Given the description of an element on the screen output the (x, y) to click on. 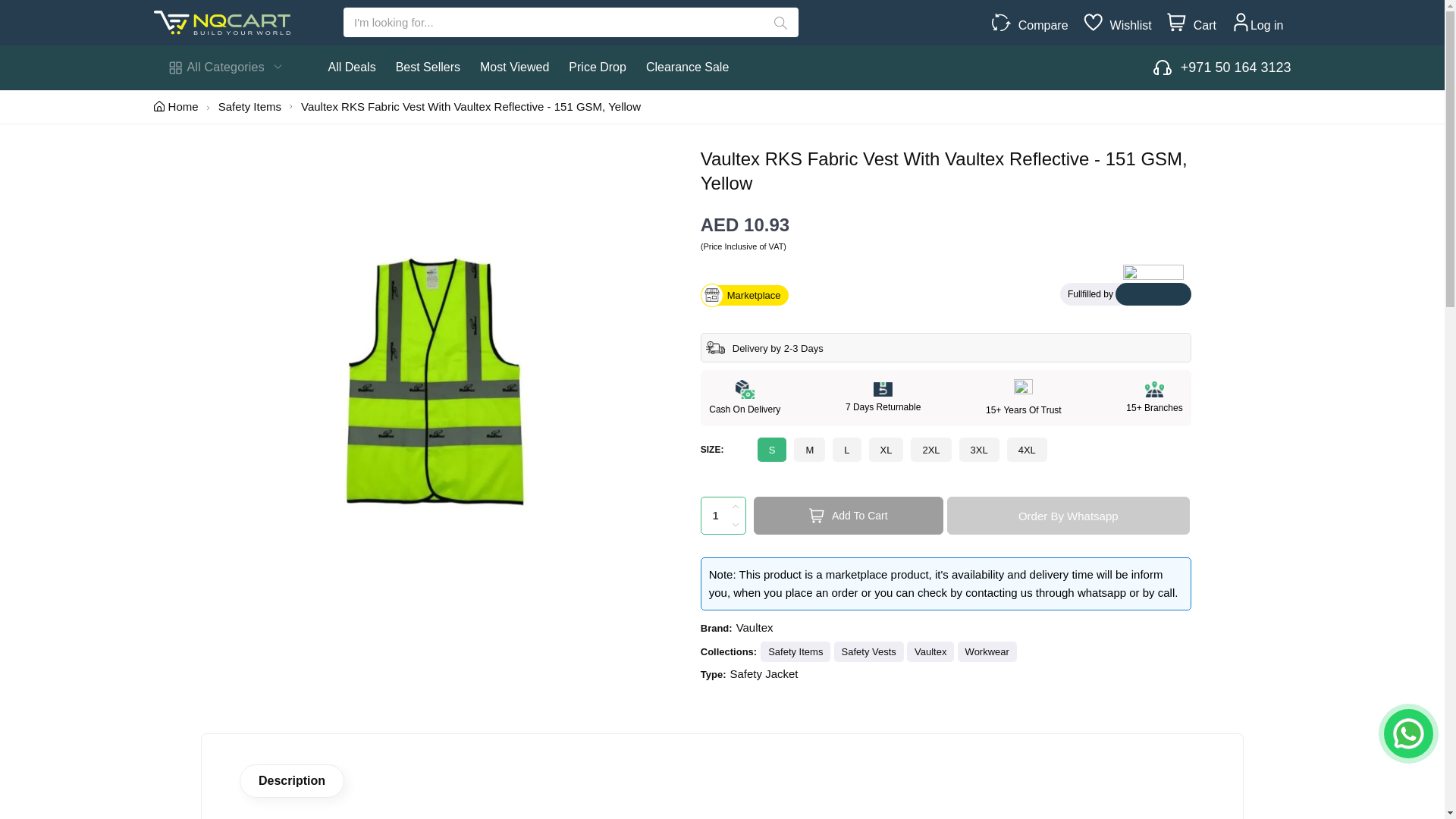
1 (723, 515)
All Categories (224, 67)
Wishlist (1126, 25)
Log in (1267, 25)
Compare (1039, 25)
